Given the description of an element on the screen output the (x, y) to click on. 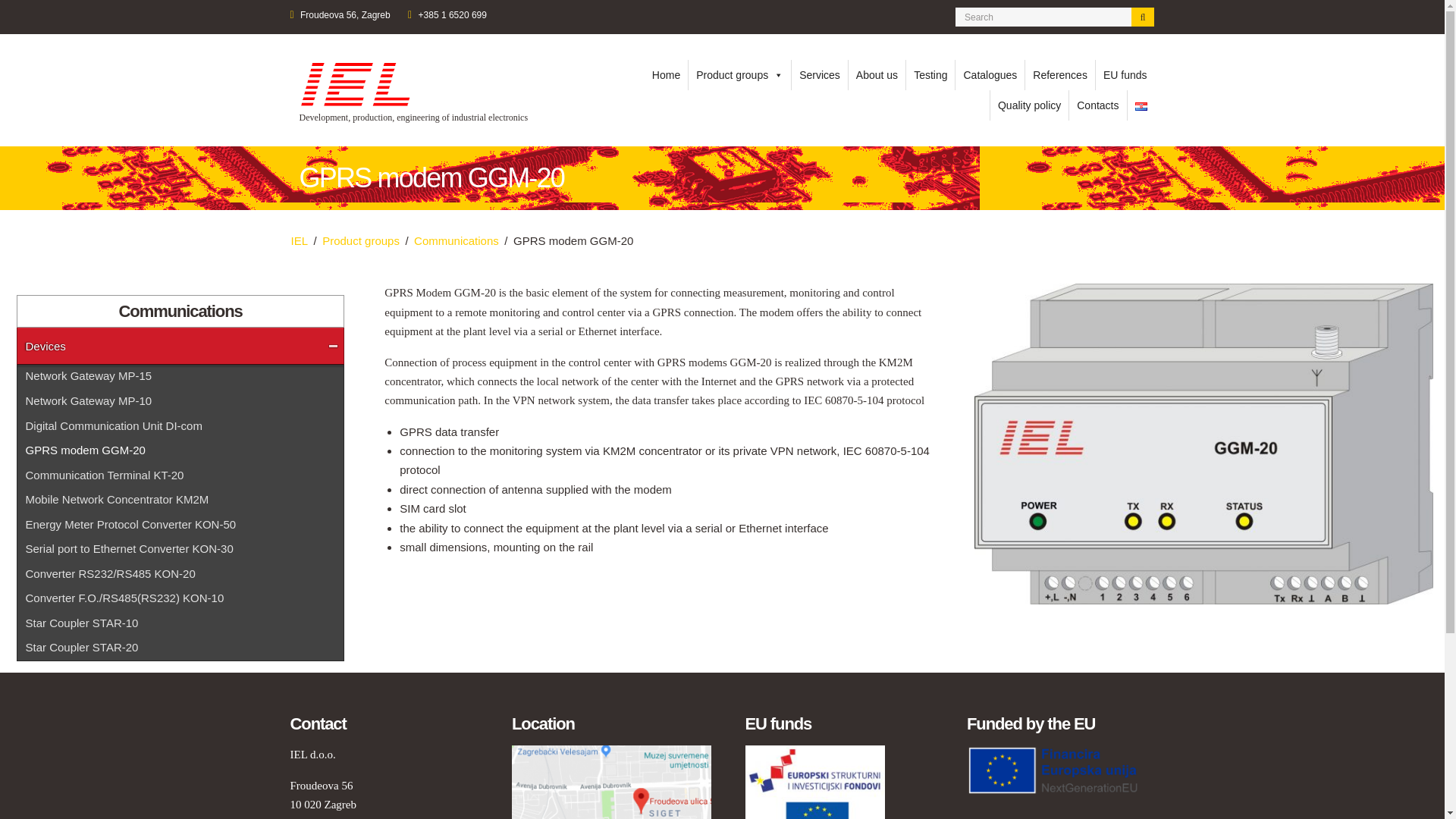
Froudeova 56, Zagreb (344, 14)
Network Gateway MP-15 (173, 375)
Digital Communication Unit DI-com (173, 425)
Star Coupler STAR-10 (173, 622)
Mobile Network Concentrator KM2M (173, 499)
About us (876, 74)
Product groups (739, 74)
GPRS modem GGM-20 (173, 450)
References (1059, 74)
Energy Meter Protocol Converter KON-50 (173, 523)
Serial port to Ethernet Converter KON-30 (173, 548)
Network Gateway MP-10 (173, 400)
Quality policy (1029, 105)
Devices (173, 345)
SEARCH (1142, 16)
